Given the description of an element on the screen output the (x, y) to click on. 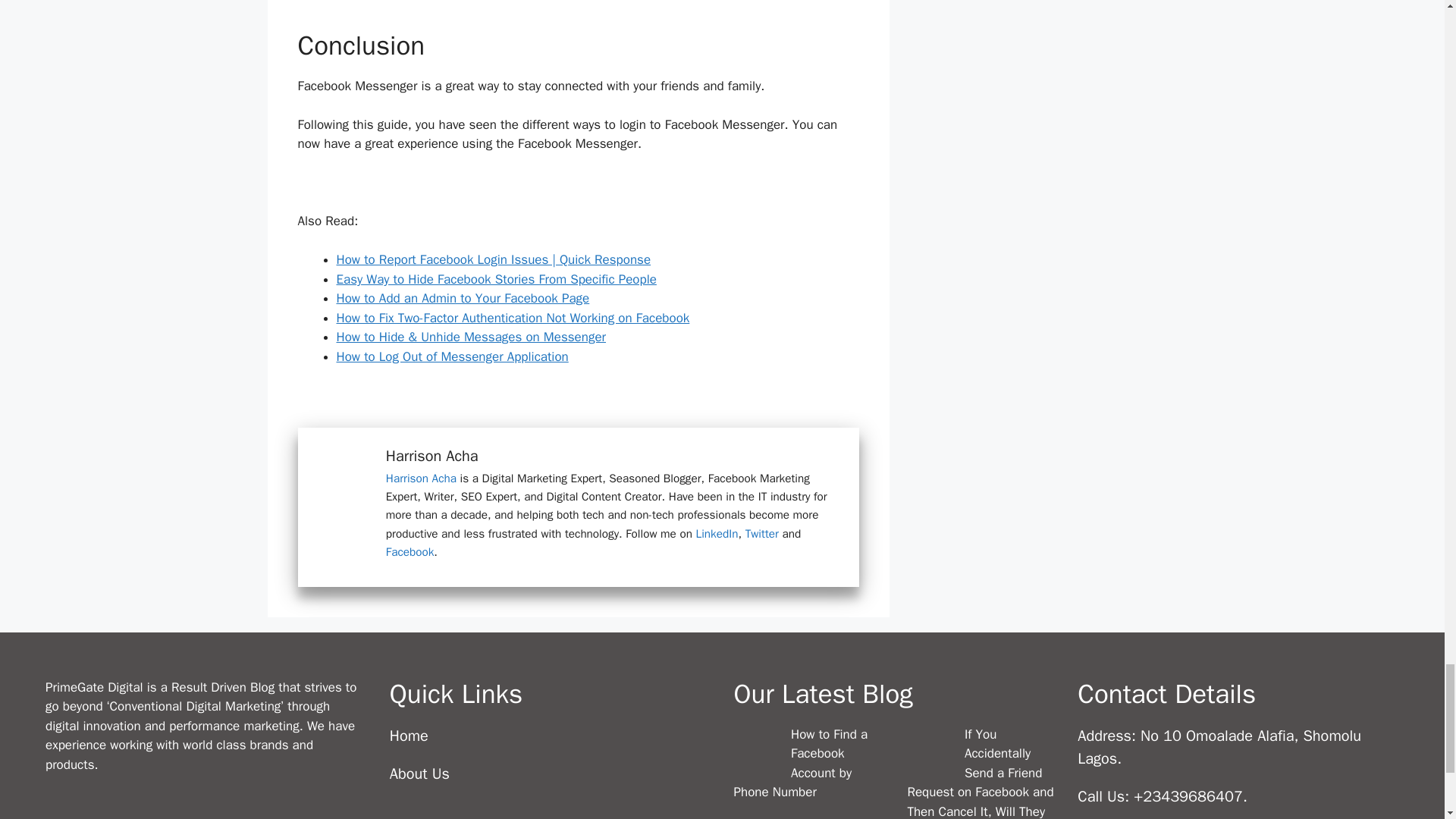
How to Find a Facebook Account by Phone Number (752, 752)
